Given the description of an element on the screen output the (x, y) to click on. 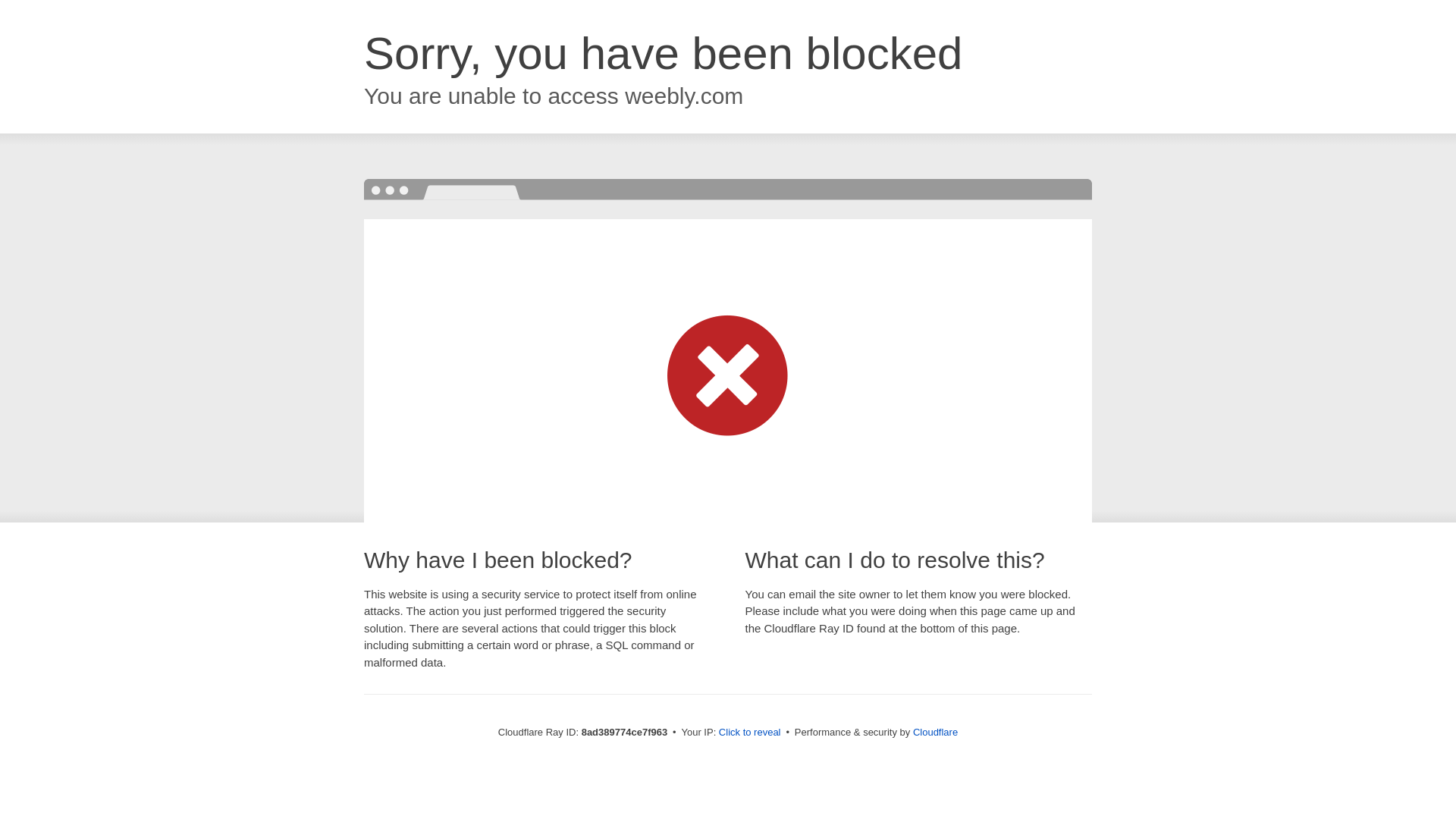
Click to reveal (749, 732)
Cloudflare (935, 731)
